Given the description of an element on the screen output the (x, y) to click on. 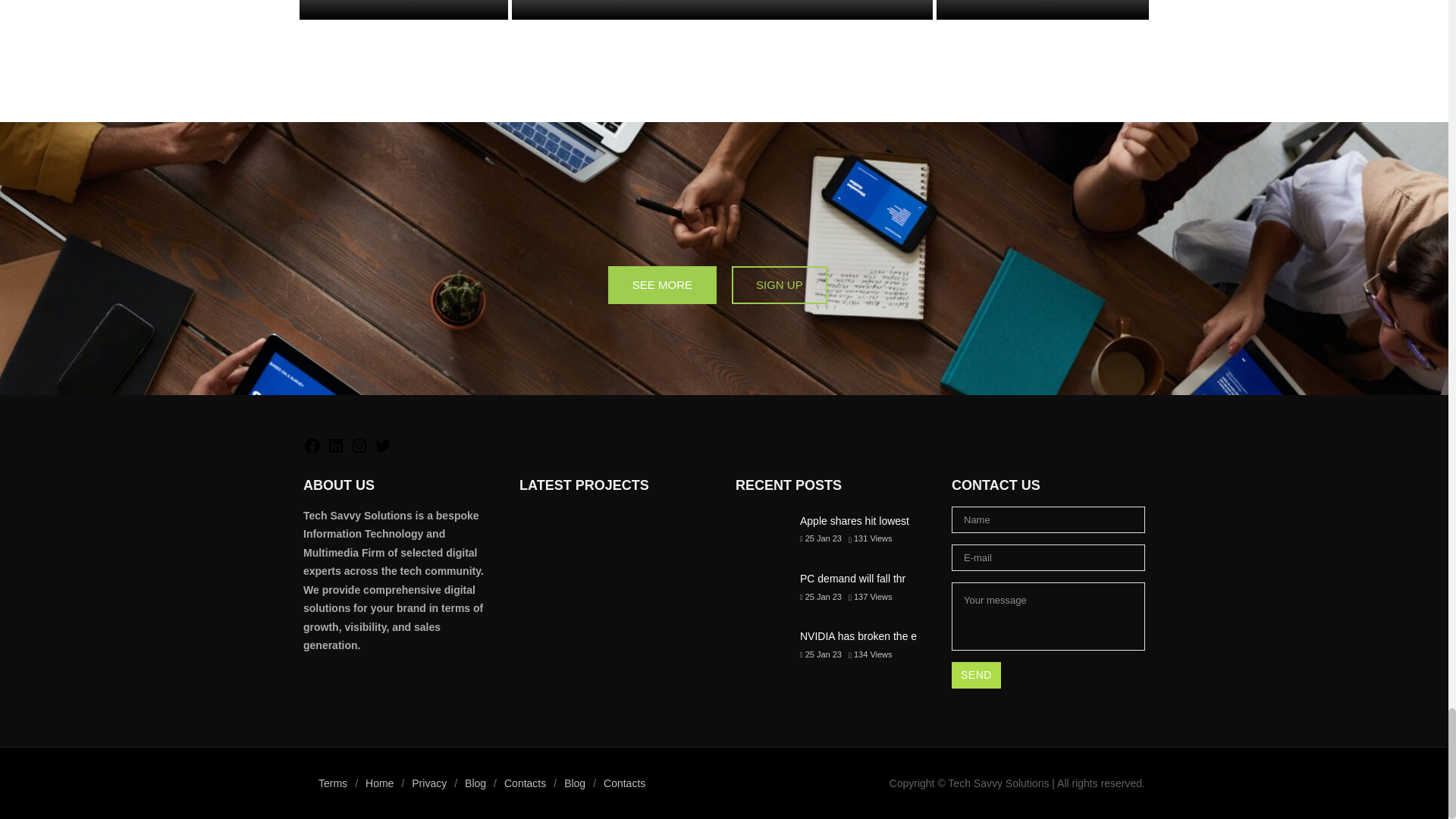
Fikoling LTD (550, 529)
Yaama Ride Hailing Platform (550, 577)
Suspect Management  System (612, 529)
Uni Health Platform (674, 529)
Send (976, 675)
